Given the description of an element on the screen output the (x, y) to click on. 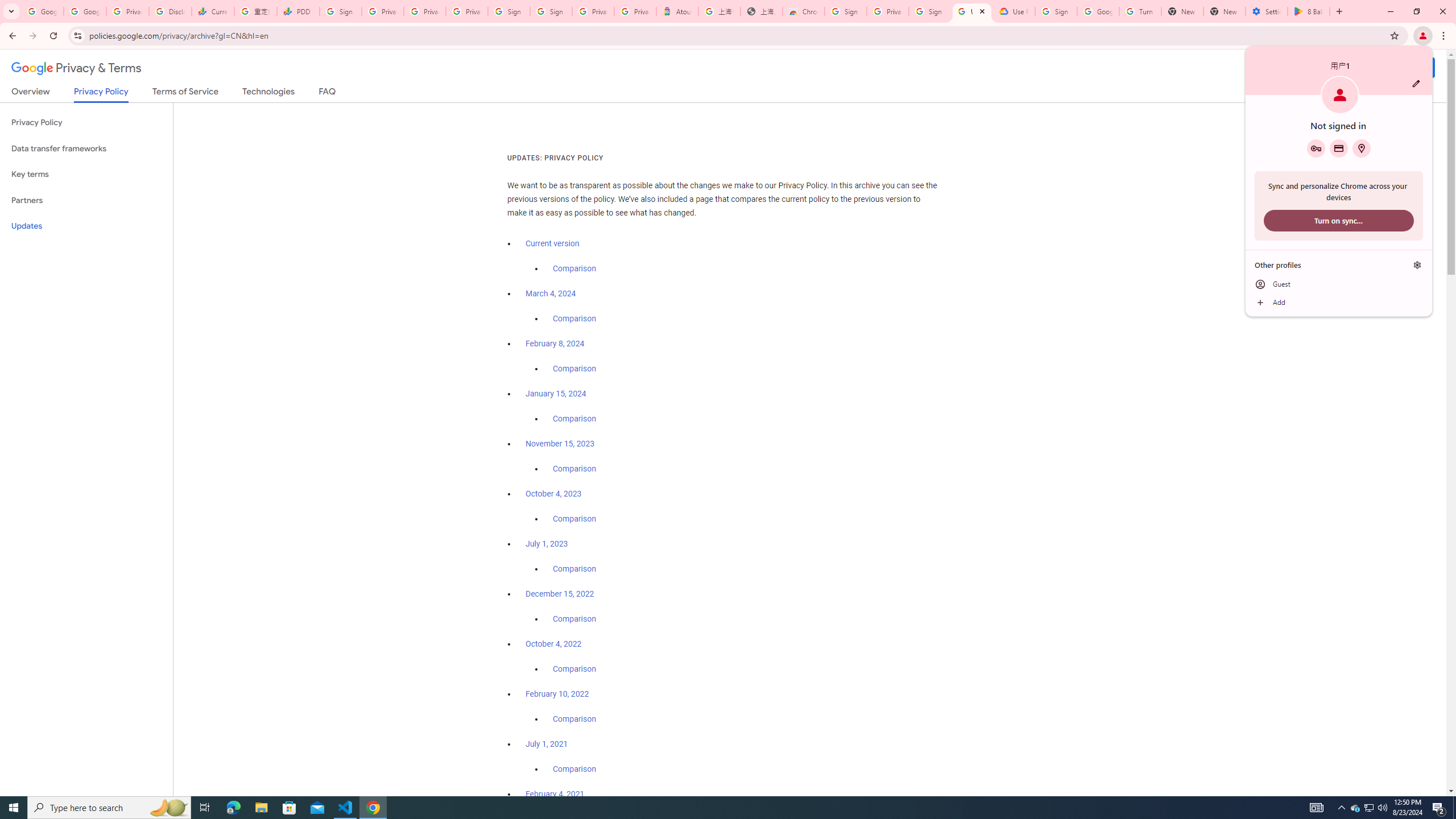
Sign in - Google Accounts (340, 11)
New Tab (1224, 11)
Manage profiles (1417, 265)
Sign in - Google Accounts (550, 11)
Terms of Service (184, 93)
Q2790: 100% (1382, 807)
July 1, 2023 (546, 543)
November 15, 2023 (560, 443)
February 8, 2024 (555, 343)
